Given the description of an element on the screen output the (x, y) to click on. 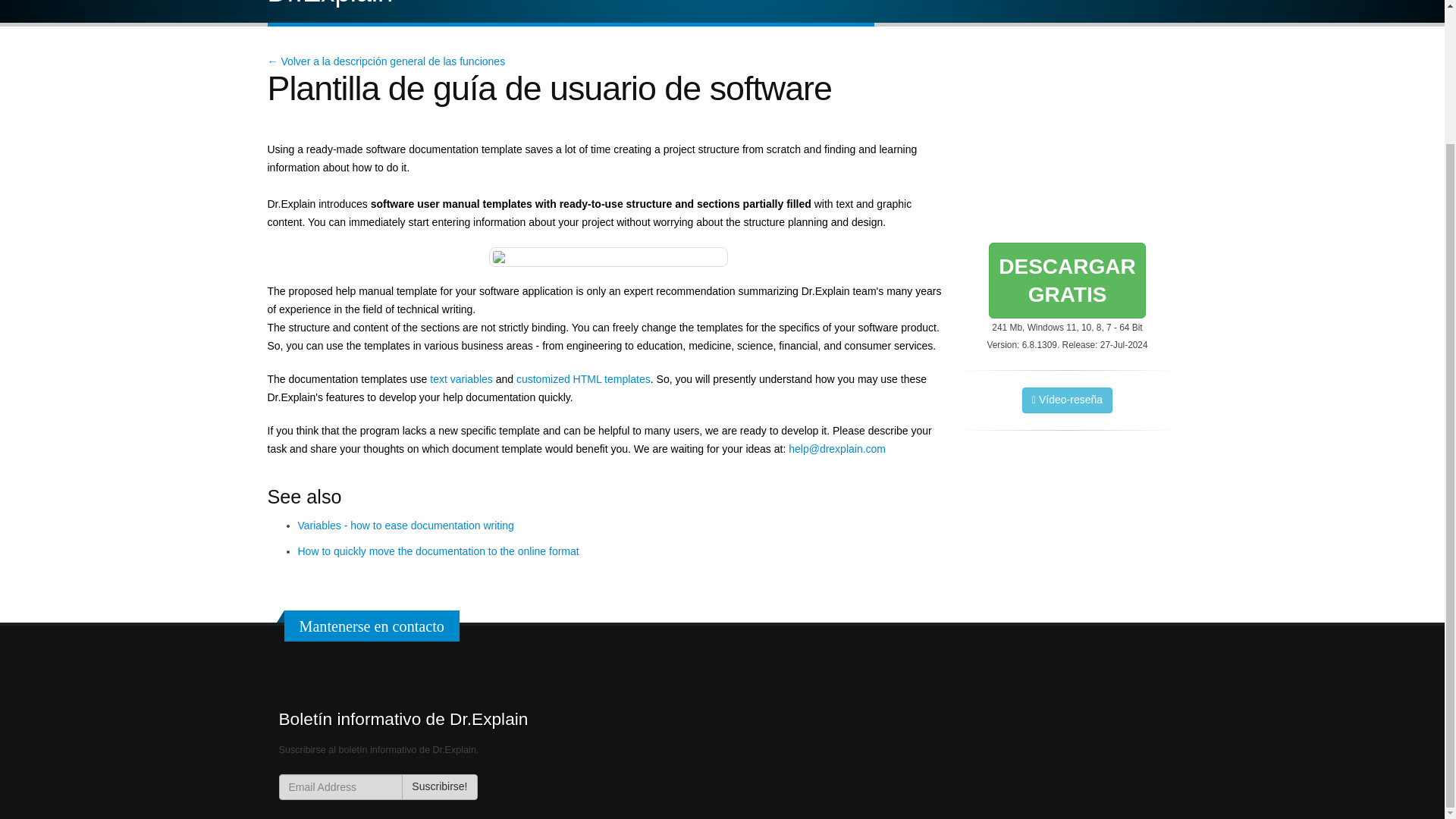
customized HTML templates (583, 378)
Suscribirse! (1066, 280)
How to quickly move the documentation to the online format (439, 786)
text variables (437, 551)
Download Dr.Explain (460, 378)
Variables - how to ease documentation writing (1066, 280)
